Given the description of an element on the screen output the (x, y) to click on. 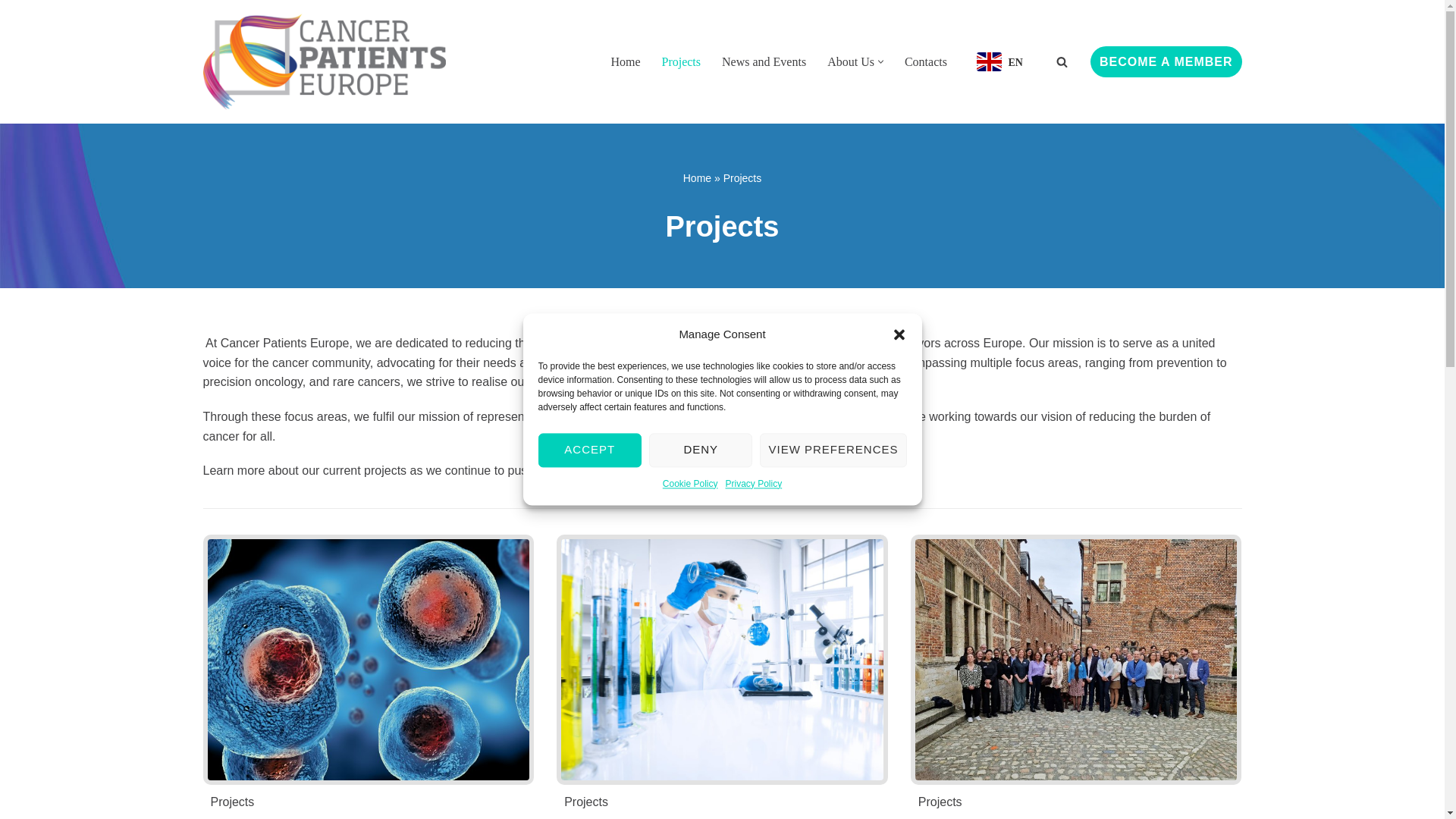
Projects (680, 61)
About Us (851, 61)
News and Events (764, 61)
VIEW PREFERENCES (832, 449)
Qualitop (721, 659)
Cookie Policy (689, 484)
Skip to content (11, 31)
DENY (700, 449)
BECOME A MEMBER (1165, 61)
Home (625, 61)
GLIOMATCH (1076, 659)
Privacy Policy (753, 484)
ACCEPT (590, 449)
Contacts (925, 61)
